Given the description of an element on the screen output the (x, y) to click on. 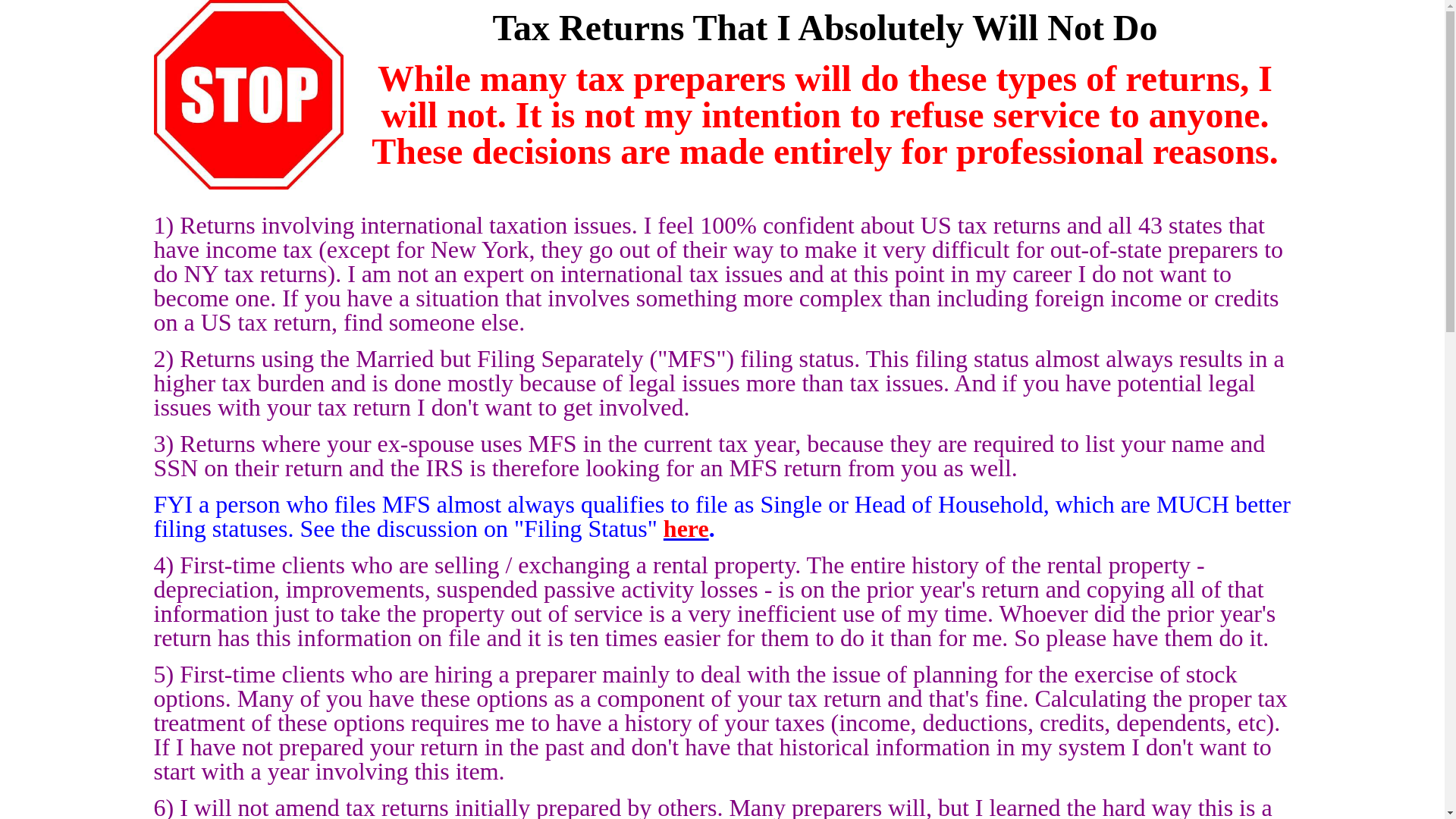
here (686, 528)
